Given the description of an element on the screen output the (x, y) to click on. 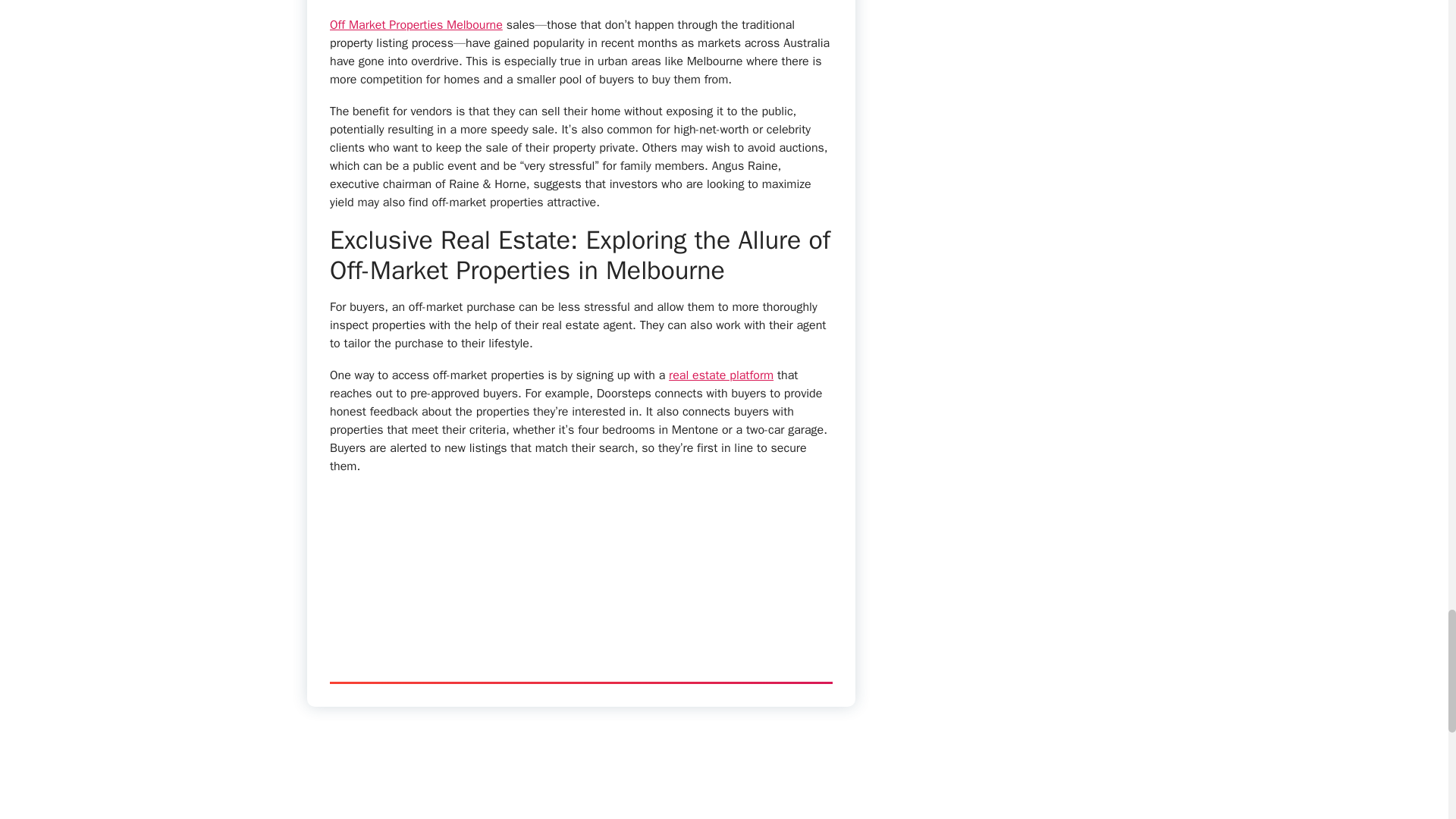
real estate platform (720, 375)
Off Market Properties Melbourne (416, 24)
